Given the description of an element on the screen output the (x, y) to click on. 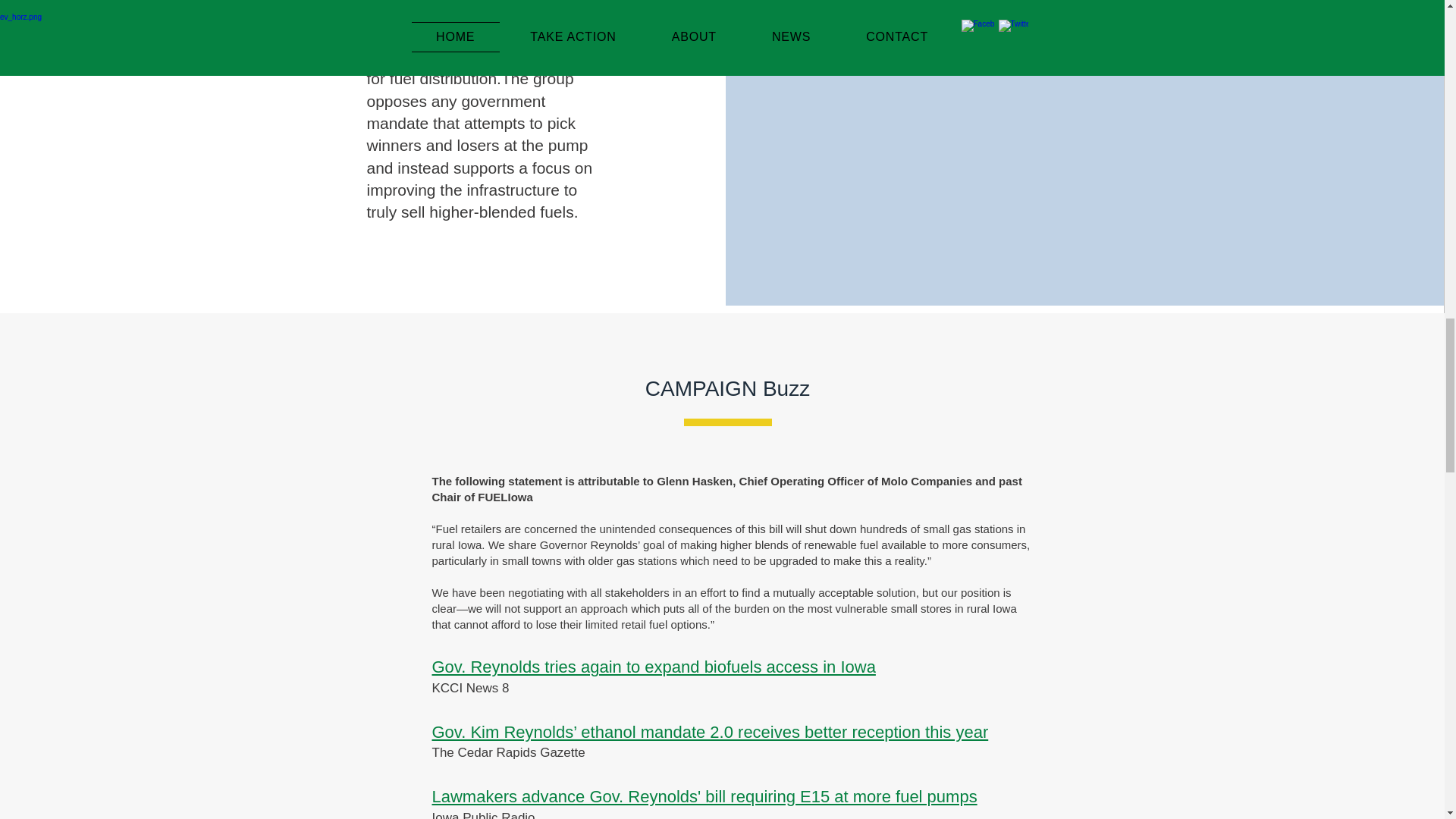
Gov. Reynolds tries again to expand biofuels access in Iowa (654, 666)
